Given the description of an element on the screen output the (x, y) to click on. 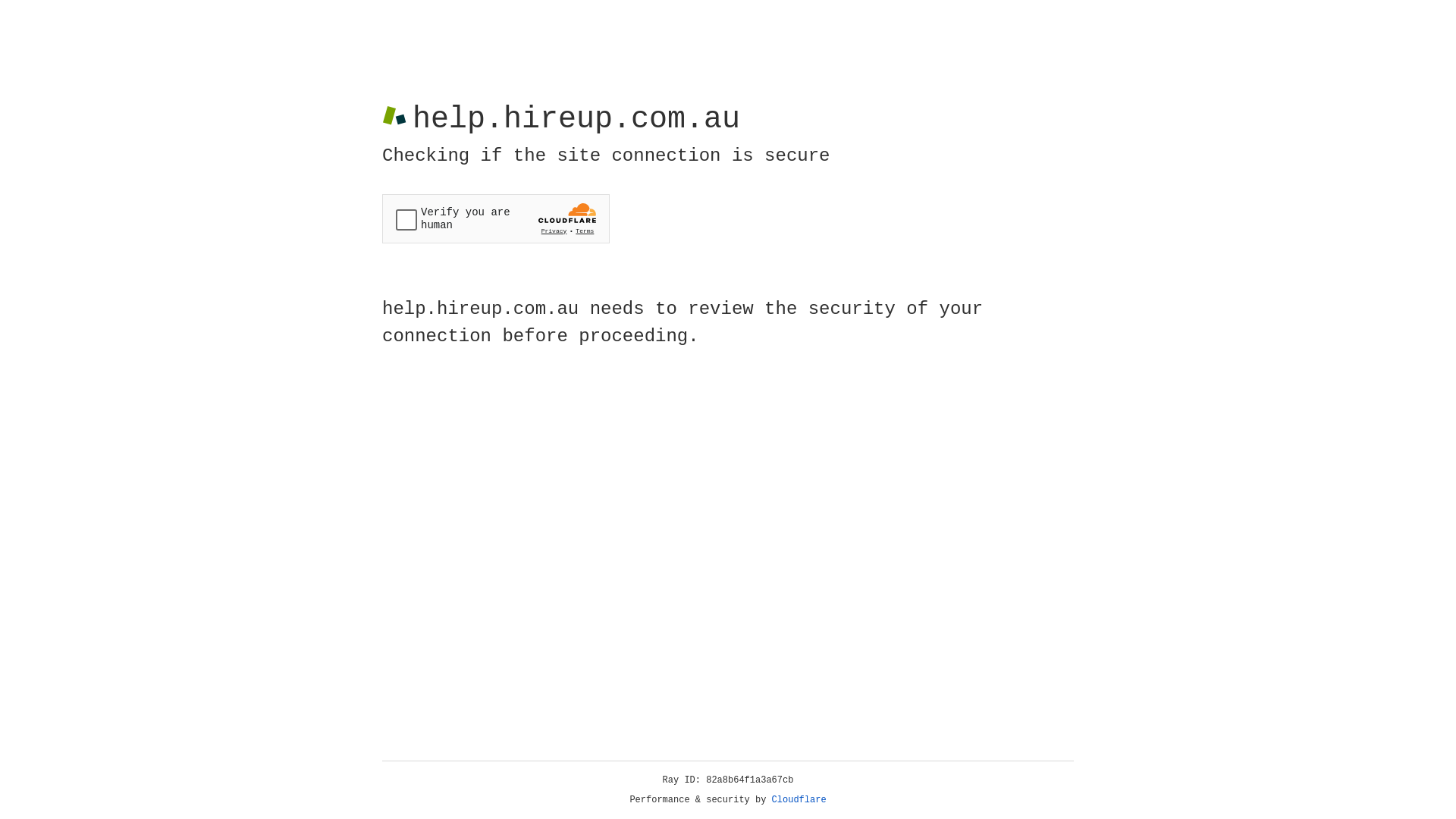
Cloudflare Element type: text (798, 799)
Widget containing a Cloudflare security challenge Element type: hover (495, 218)
